Given the description of an element on the screen output the (x, y) to click on. 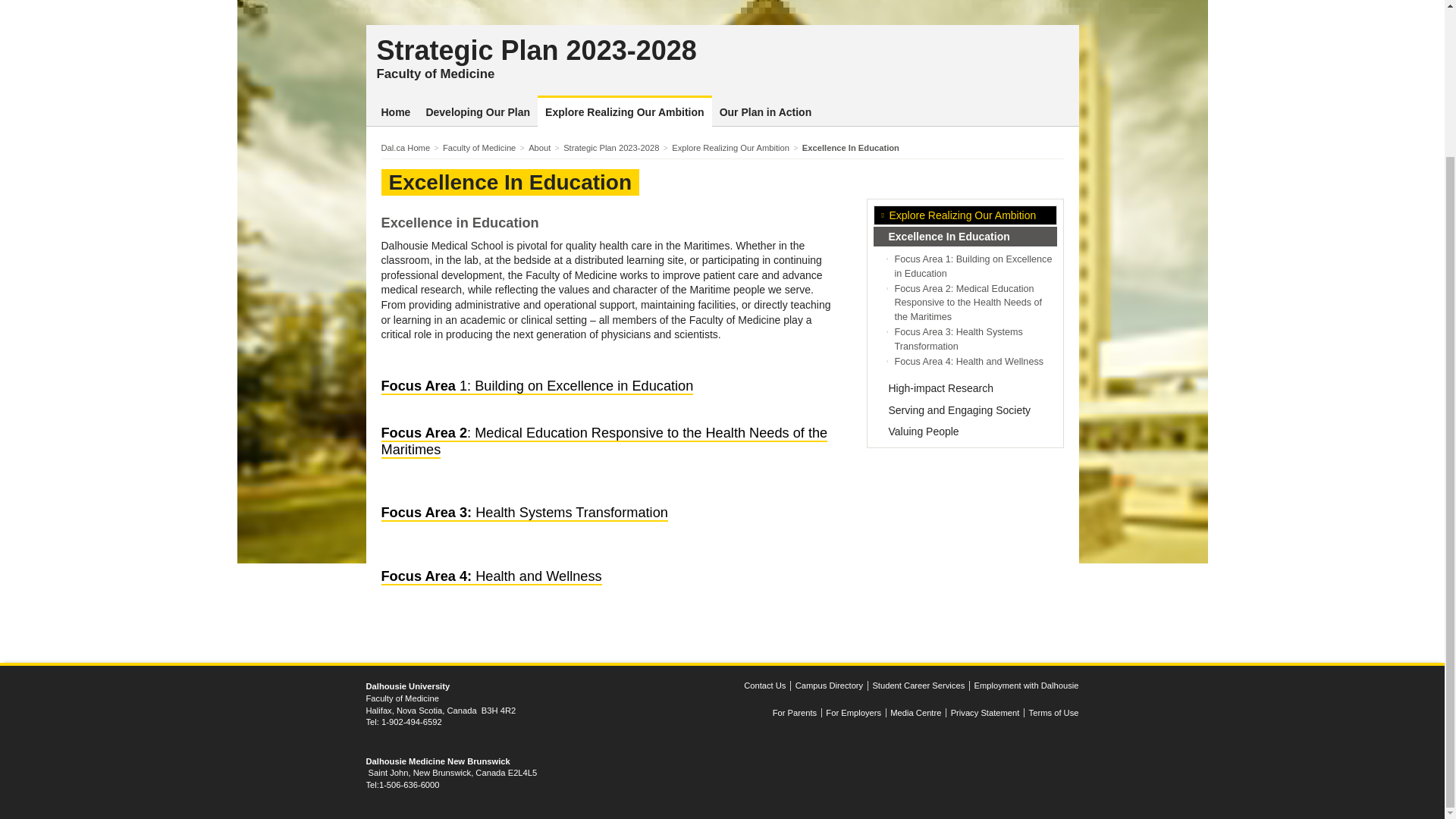
Focus Area 4: Health and Wellness (969, 361)
Faculty of Medicine (435, 73)
Focus Area 1: Building on Excellence in Education (536, 386)
Excellence In Education (965, 236)
Serving and Engaging Society (965, 409)
About (543, 147)
Focus Area 3: Health Systems Transformation (523, 513)
Valuing People (965, 431)
Focus Area 1: Building on Excellence in Education (973, 265)
